Given the description of an element on the screen output the (x, y) to click on. 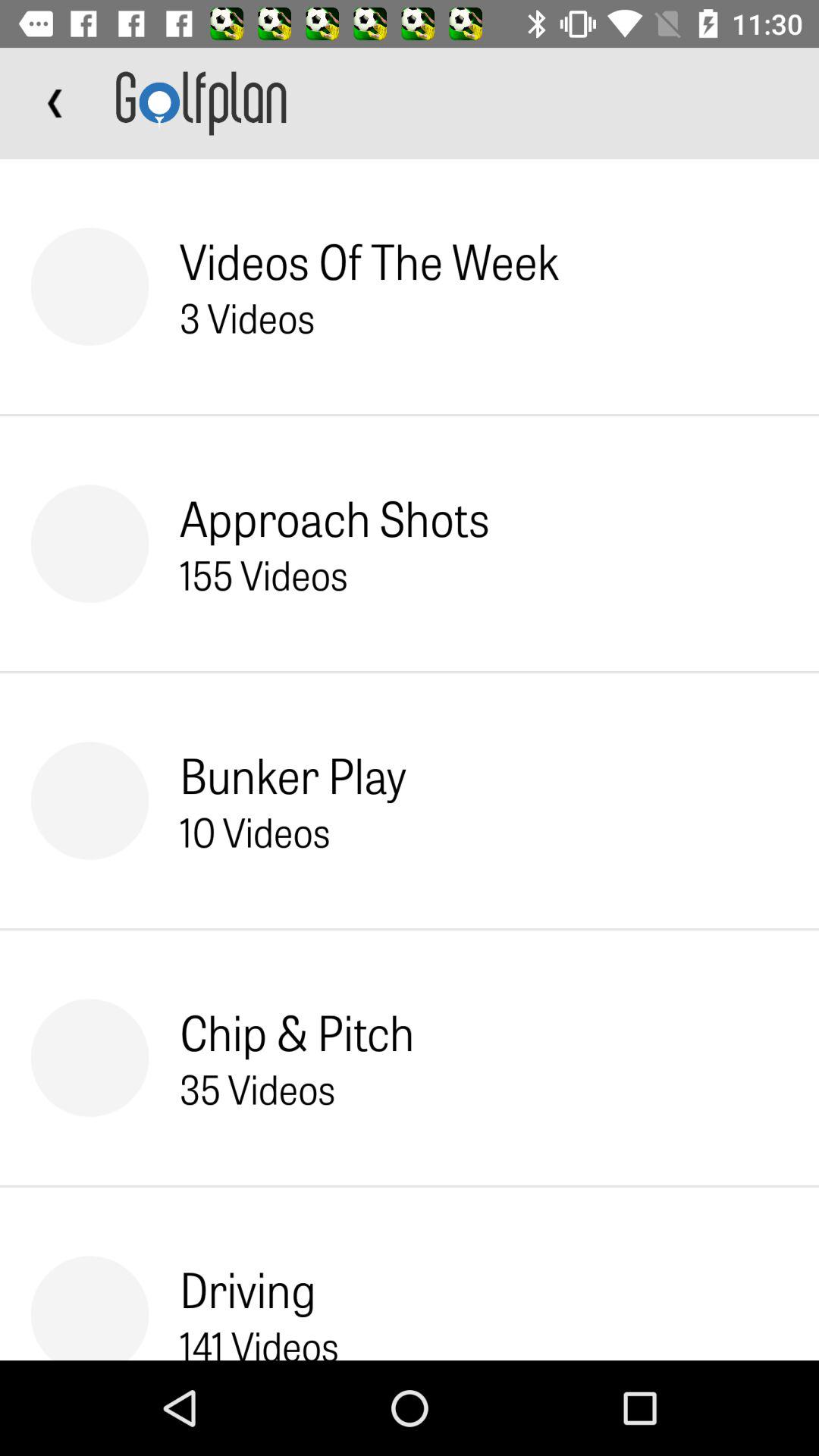
select the 141 videos item (258, 1340)
